Given the description of an element on the screen output the (x, y) to click on. 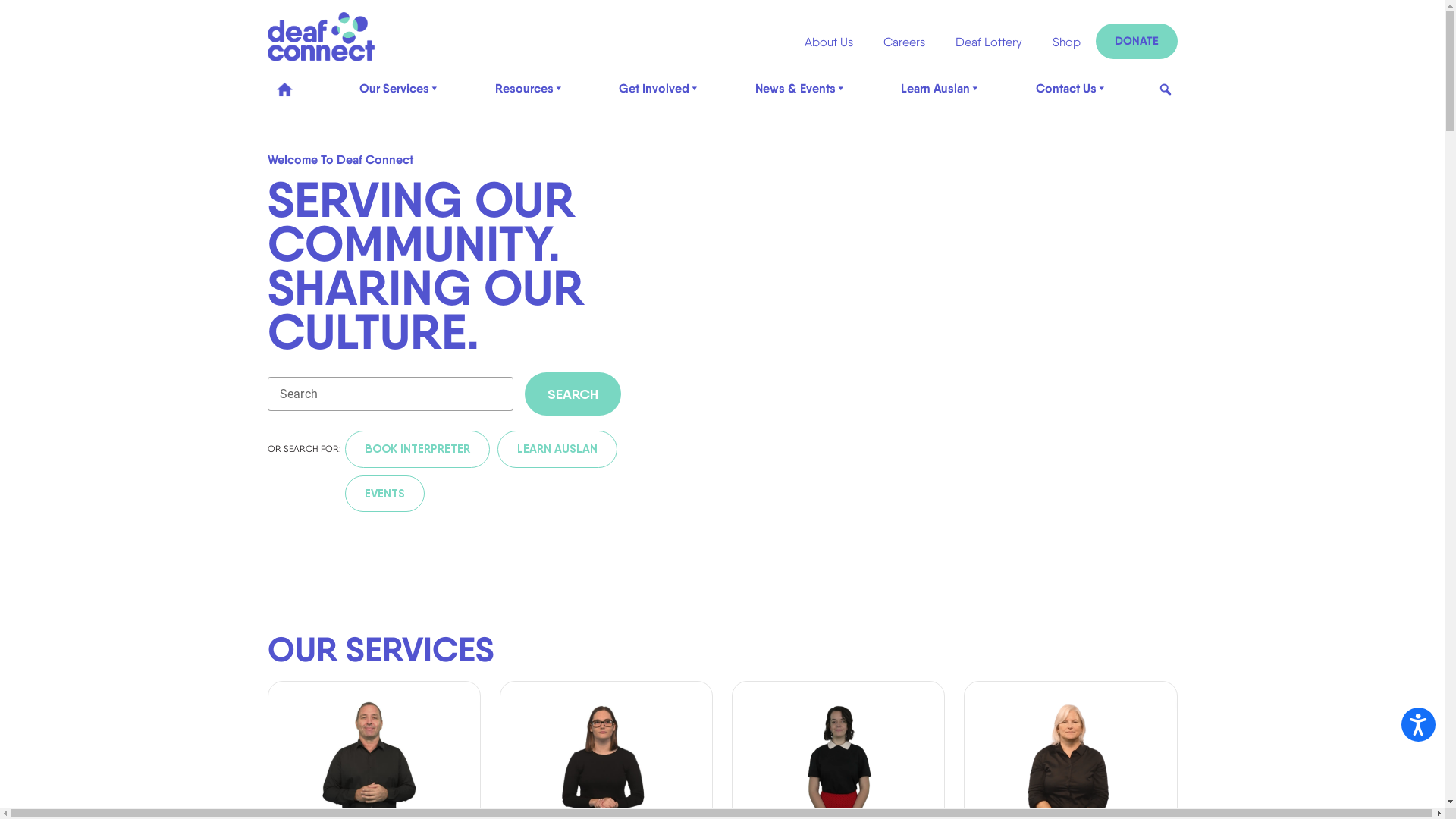
Search Element type: text (23, 22)
Learn Auslan Element type: text (940, 87)
Our Services Element type: text (399, 87)
About Us Element type: text (827, 42)
Contact Us Element type: text (1071, 87)
Get Involved Element type: text (659, 87)
Submit Element type: text (44, 22)
Deaf Lottery Element type: text (988, 42)
News & Events Element type: text (800, 87)
Careers Element type: text (903, 42)
BOOK INTERPRETER Element type: text (416, 448)
SEARCH Element type: text (572, 393)
Shop Element type: text (1066, 42)
Resources Element type: text (529, 87)
DONATE Element type: text (1136, 41)
EVENTS Element type: text (383, 492)
LEARN AUSLAN Element type: text (557, 448)
